Given the description of an element on the screen output the (x, y) to click on. 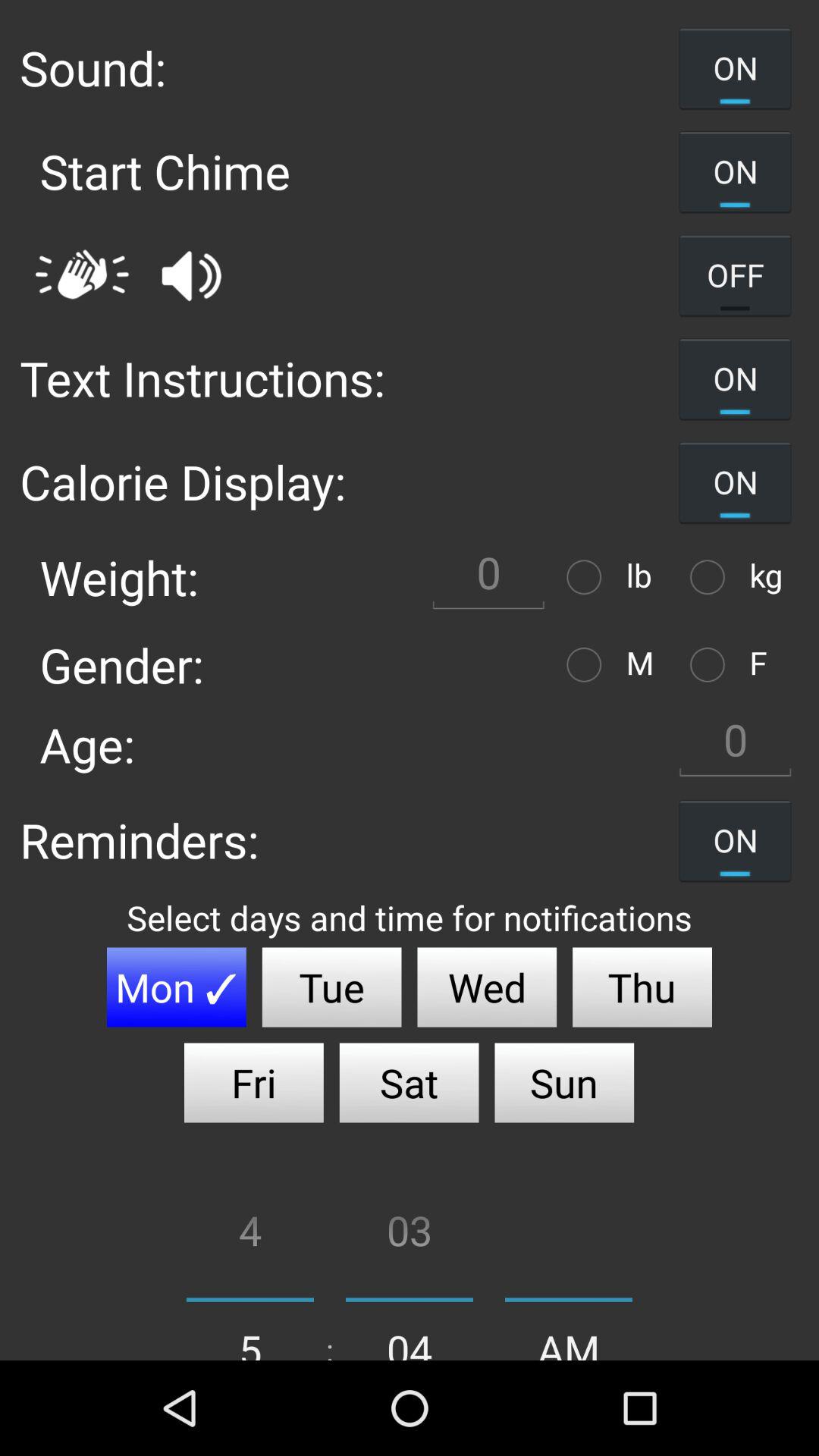
enter age (735, 744)
